Given the description of an element on the screen output the (x, y) to click on. 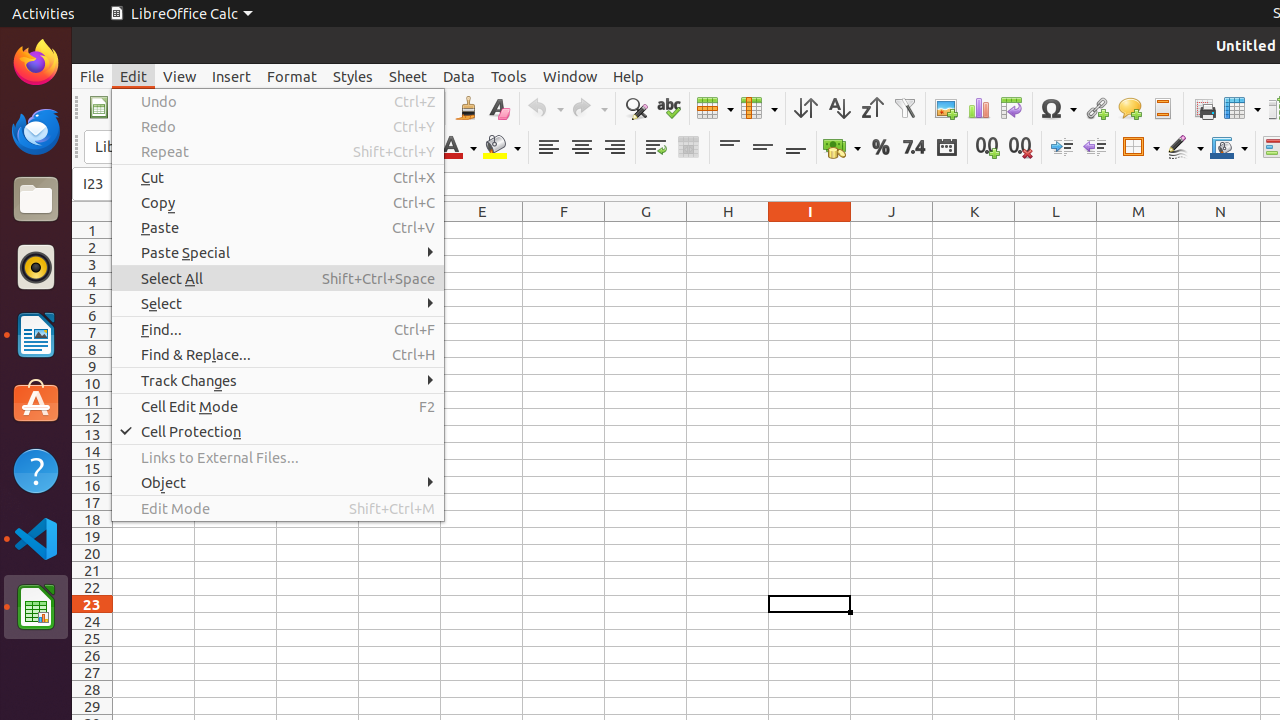
Window Element type: menu (570, 76)
Edit Mode Element type: menu-item (278, 508)
Background Color Element type: push-button (502, 147)
H1 Element type: table-cell (728, 230)
Center Vertically Element type: push-button (762, 147)
